Given the description of an element on the screen output the (x, y) to click on. 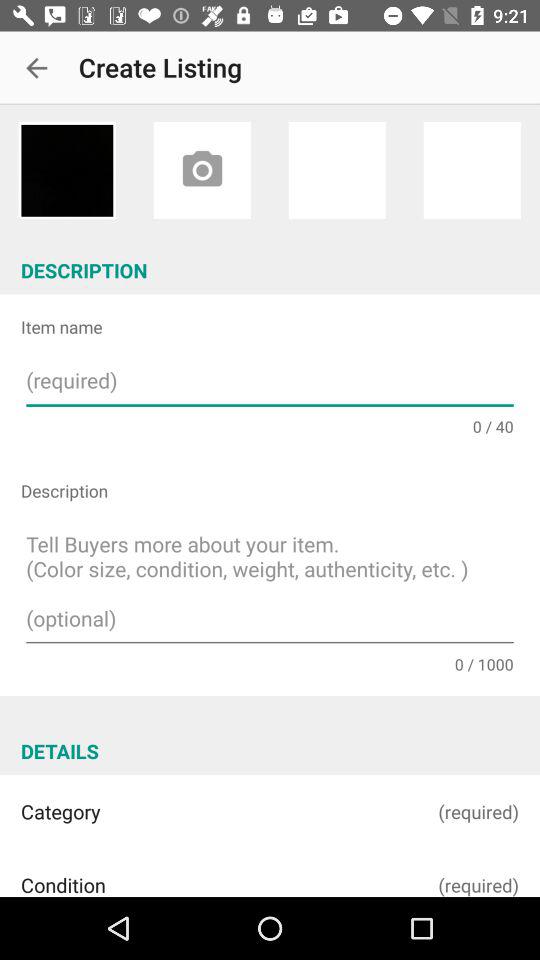
tap the item below the description icon (270, 584)
